Given the description of an element on the screen output the (x, y) to click on. 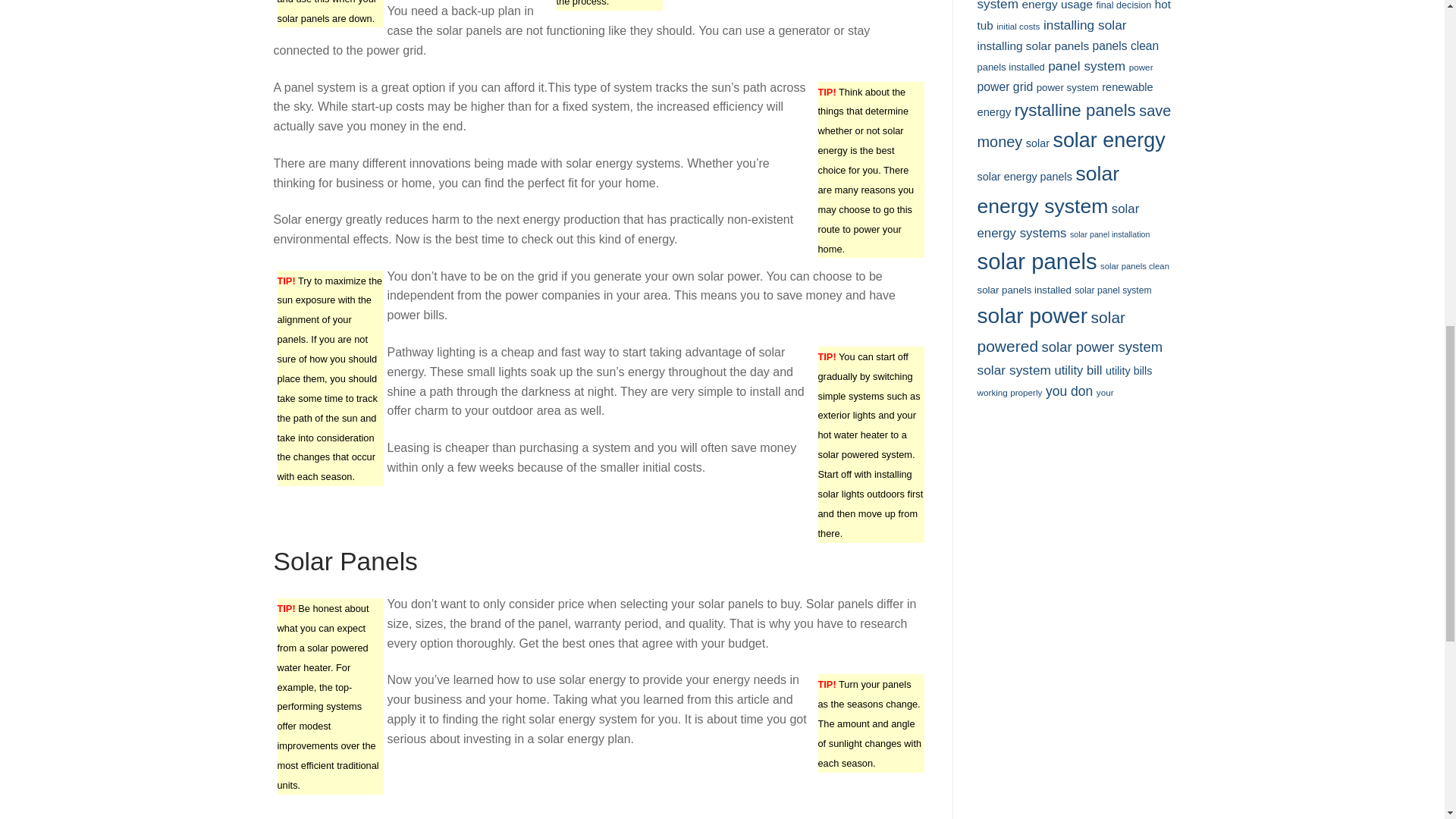
solar energy (428, 818)
you don (631, 818)
solar panels (501, 818)
solar power (571, 818)
save money (356, 818)
